Given the description of an element on the screen output the (x, y) to click on. 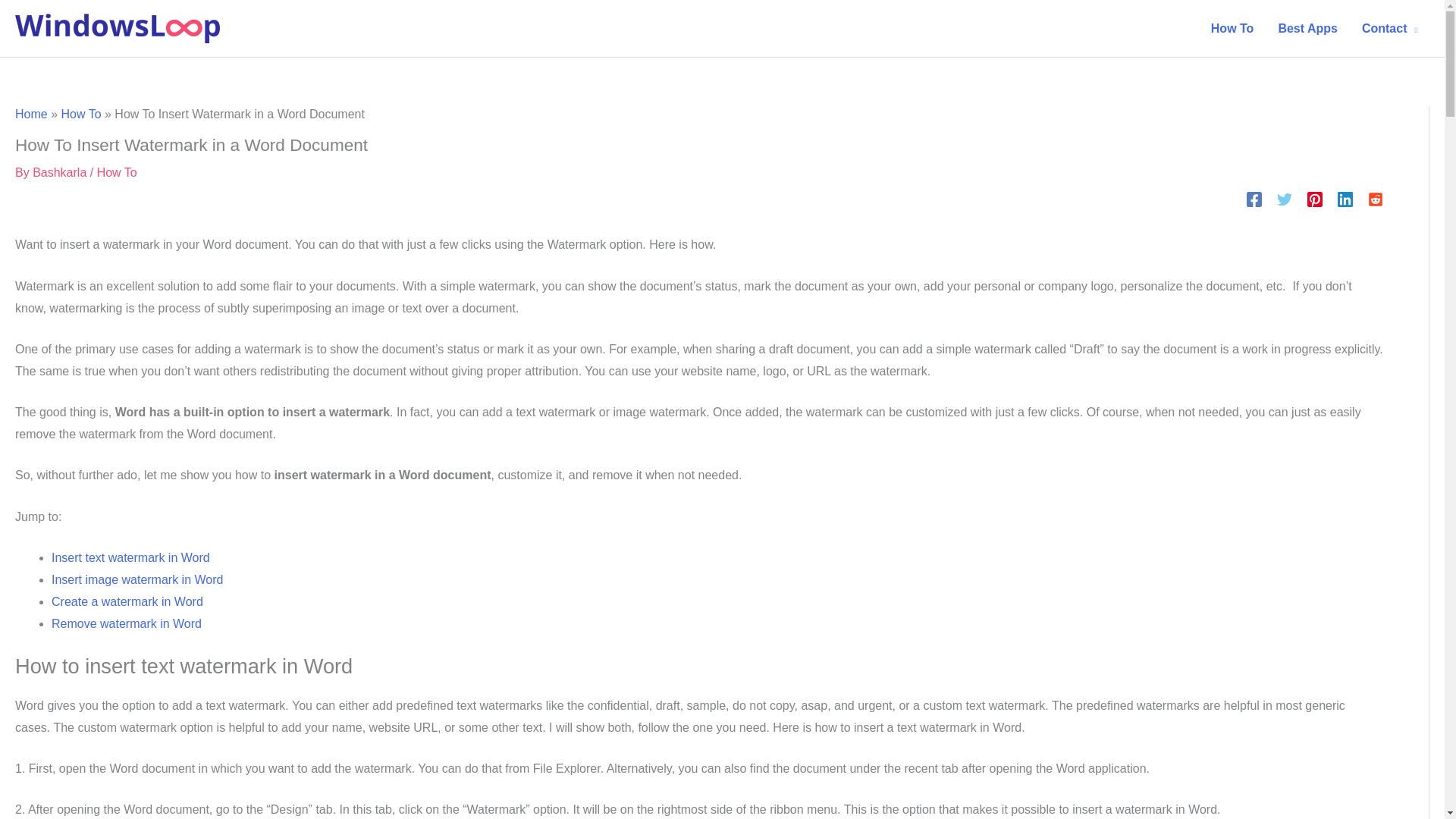
How To (116, 171)
Home (31, 113)
Remove watermark in Word (126, 623)
View all posts by Bashkarla (58, 171)
Insert image watermark in Word (136, 579)
How To (80, 113)
Bashkarla (58, 171)
Insert text watermark in Word (129, 557)
Best Apps (1307, 27)
How To (1232, 27)
